Given the description of an element on the screen output the (x, y) to click on. 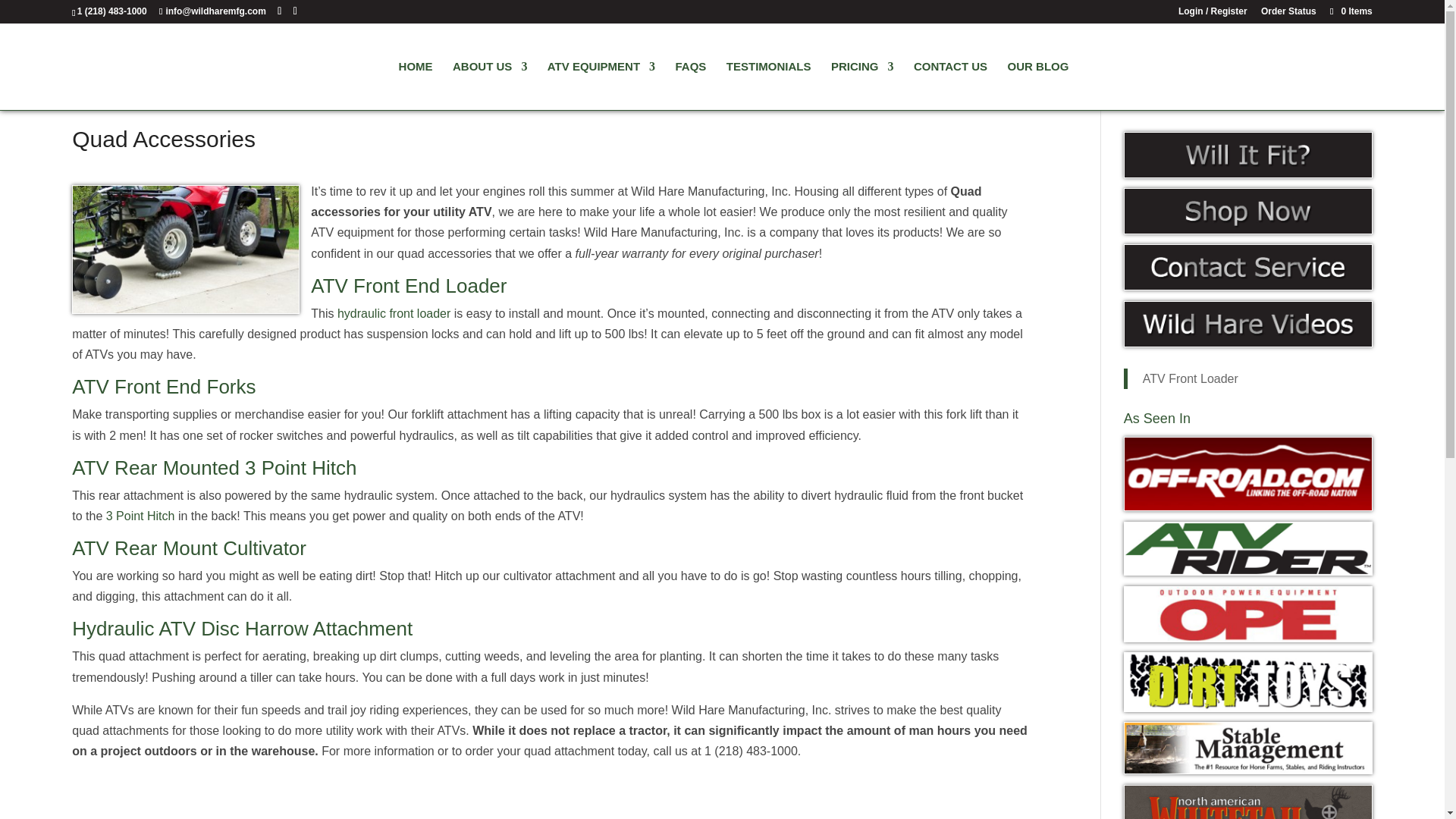
OUR BLOG (1037, 84)
ABOUT US (489, 84)
TESTIMONIALS (768, 84)
ATV Front Loader (1190, 378)
Order Status (1288, 10)
CONTACT US (950, 84)
0 Items (1350, 10)
ATV EQUIPMENT (601, 84)
3 Point Hitch (140, 515)
hydraulic front loader (393, 313)
